Given the description of an element on the screen output the (x, y) to click on. 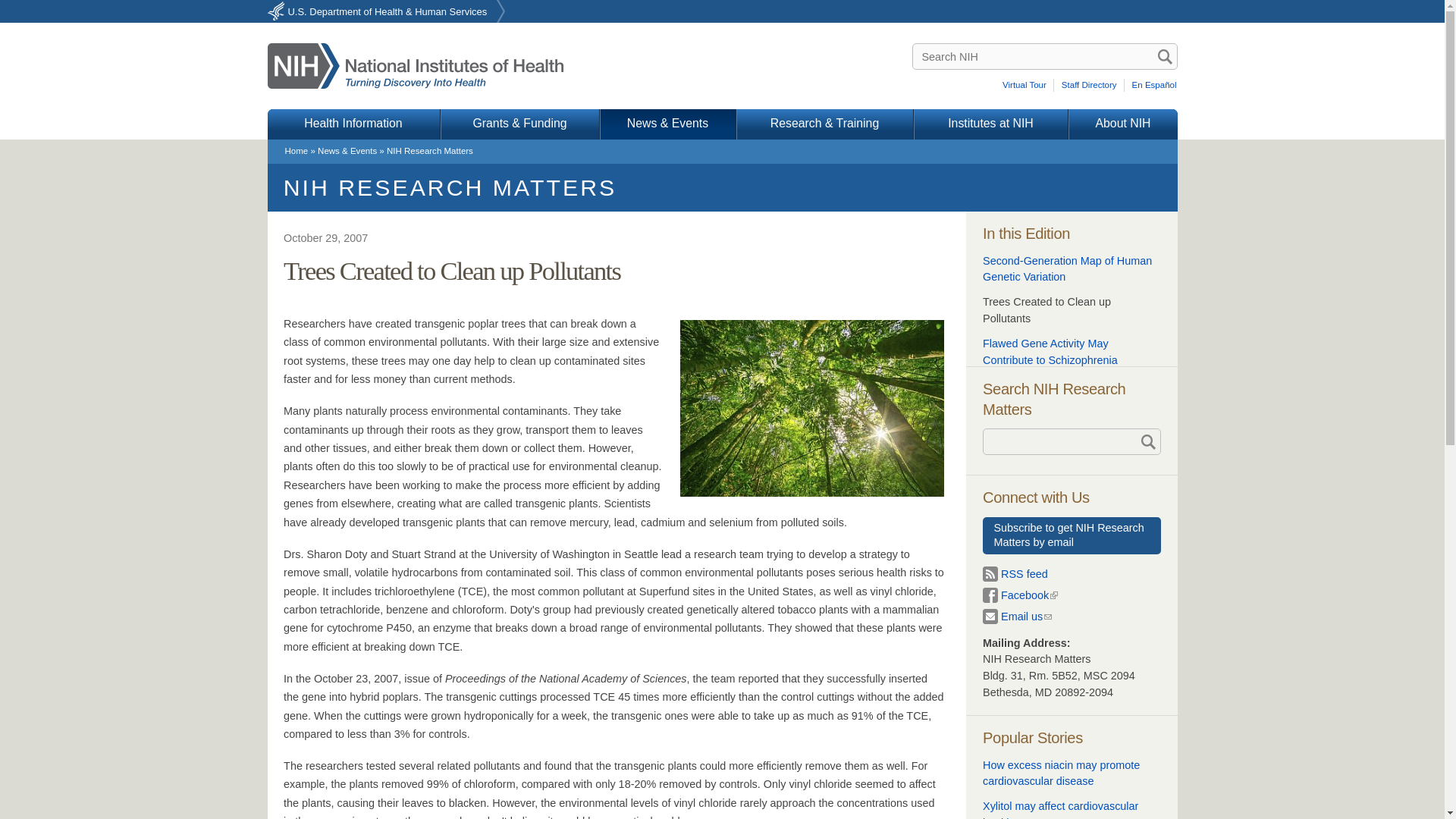
Search (1164, 56)
Staff Directory (1091, 84)
Search (1164, 56)
Health Information (352, 123)
Search (1164, 56)
Virtual Tour (1026, 84)
Go (1147, 441)
